Given the description of an element on the screen output the (x, y) to click on. 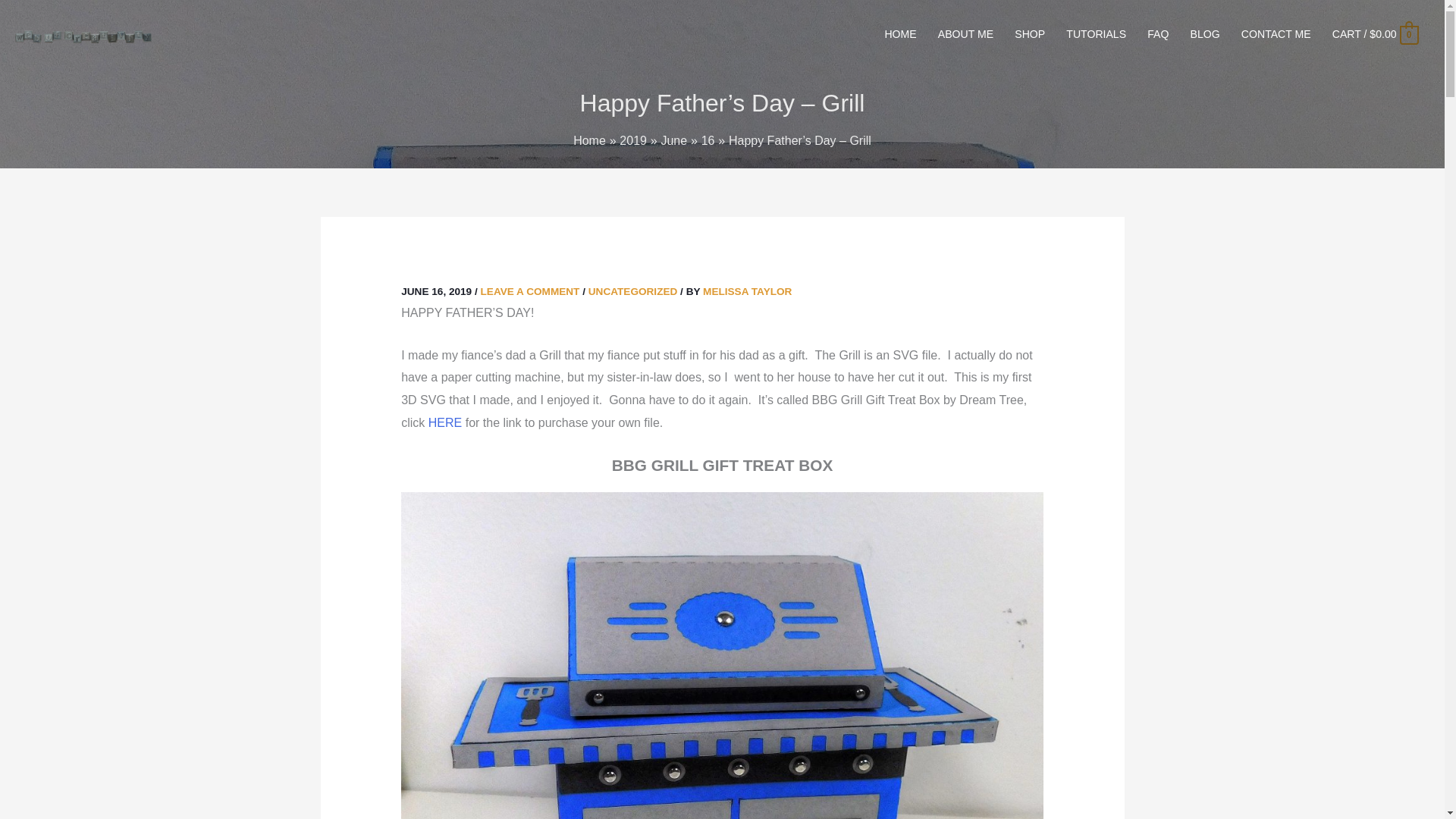
2019 (633, 140)
FAQ (1158, 34)
SHOP (1029, 34)
LEAVE A COMMENT (529, 291)
ABOUT ME (965, 34)
View all posts by Melissa Taylor (747, 291)
UNCATEGORIZED (633, 291)
View your shopping cart (1375, 33)
TUTORIALS (1096, 34)
BLOG (1204, 34)
MELISSA TAYLOR (747, 291)
16 (707, 140)
CONTACT ME (1276, 34)
June (674, 140)
HOME (899, 34)
